Given the description of an element on the screen output the (x, y) to click on. 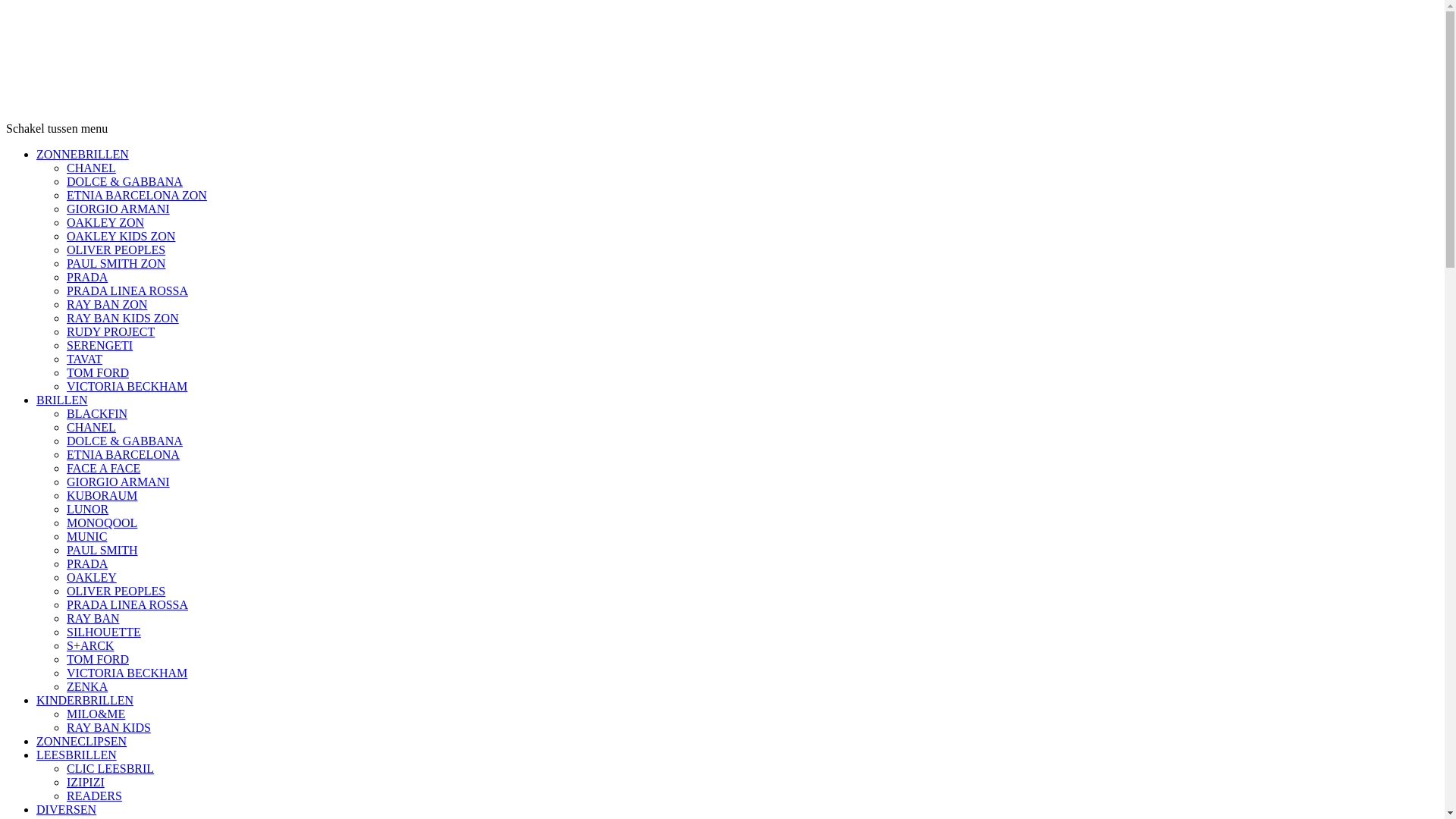
RAY BAN ZON Element type: text (106, 304)
PRADA LINEA ROSSA Element type: text (127, 290)
PRADA LINEA ROSSA Element type: text (127, 604)
SERENGETI Element type: text (99, 344)
OAKLEY Element type: text (91, 577)
CHANEL Element type: text (91, 426)
ZONNEBRILLEN Element type: text (82, 153)
CLIC LEESBRIL Element type: text (109, 768)
FACE A FACE Element type: text (103, 467)
PRADA Element type: text (86, 563)
LUNOR Element type: text (87, 508)
PAUL SMITH Element type: text (102, 549)
S+ARCK Element type: text (89, 645)
MUNIC Element type: text (86, 536)
PRADA Element type: text (86, 276)
GIORGIO ARMANI Element type: text (117, 208)
IZIPIZI Element type: text (85, 781)
TOM FORD Element type: text (97, 372)
OLIVER PEOPLES Element type: text (115, 249)
TAVAT Element type: text (84, 358)
DOLCE & GABBANA Element type: text (124, 440)
VICTORIA BECKHAM Element type: text (126, 385)
READERS Element type: text (94, 795)
ZONNECLIPSEN Element type: text (81, 740)
MILO&ME Element type: text (95, 713)
SILHOUETTE Element type: text (103, 631)
ETNIA BARCELONA ZON Element type: text (136, 194)
PAUL SMITH ZON Element type: text (115, 263)
DOLCE & GABBANA Element type: text (124, 181)
RAY BAN Element type: text (92, 617)
OLIVER PEOPLES Element type: text (115, 590)
ETNIA BARCELONA Element type: text (122, 454)
CHANEL Element type: text (91, 167)
BLACKFIN Element type: text (96, 413)
RAY BAN KIDS Element type: text (108, 727)
ZENKA Element type: text (86, 686)
KUBORAUM Element type: text (101, 495)
OAKLEY KIDS ZON Element type: text (120, 235)
DIVERSEN Element type: text (66, 809)
GIORGIO ARMANI Element type: text (117, 481)
KINDERBRILLEN Element type: text (84, 699)
MONOQOOL Element type: text (101, 522)
RAY BAN KIDS ZON Element type: text (122, 317)
LEESBRILLEN Element type: text (76, 754)
OAKLEY ZON Element type: text (105, 222)
TOM FORD Element type: text (97, 658)
RUDY PROJECT Element type: text (110, 331)
BRILLEN Element type: text (61, 399)
VICTORIA BECKHAM Element type: text (126, 672)
